Given the description of an element on the screen output the (x, y) to click on. 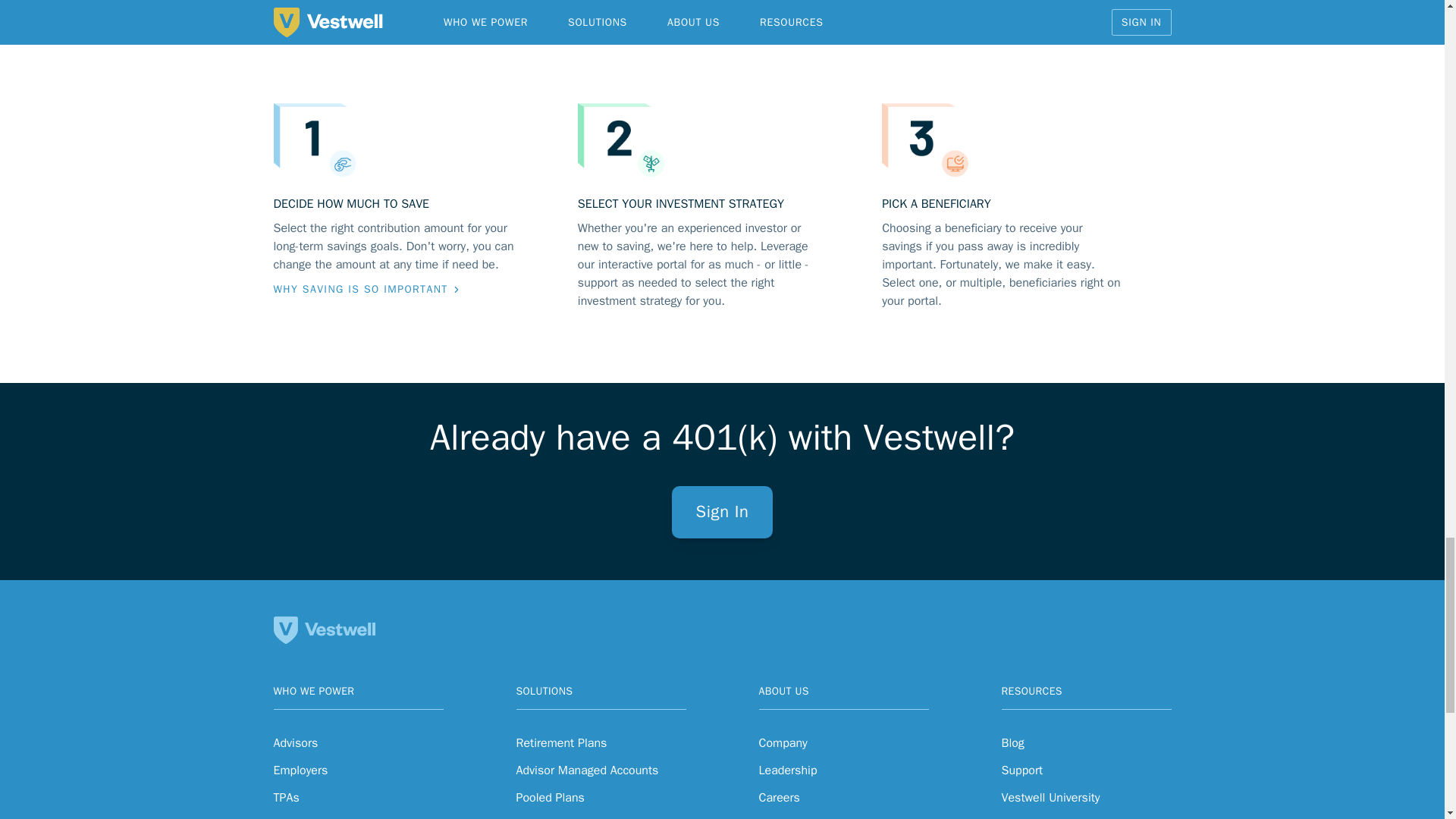
Pooled Plans (549, 797)
Tax Credit Calculator (1055, 818)
Support (1021, 770)
Leadership (787, 770)
Employers (300, 770)
Retirement Plans (561, 743)
Advisors (295, 743)
Vestwell University (1050, 797)
Payroll Integrations (565, 818)
Blog (1012, 743)
Press (772, 818)
Financial Institutions (327, 818)
Advisor Managed Accounts (586, 770)
TPAs (285, 797)
Careers (778, 797)
